Given the description of an element on the screen output the (x, y) to click on. 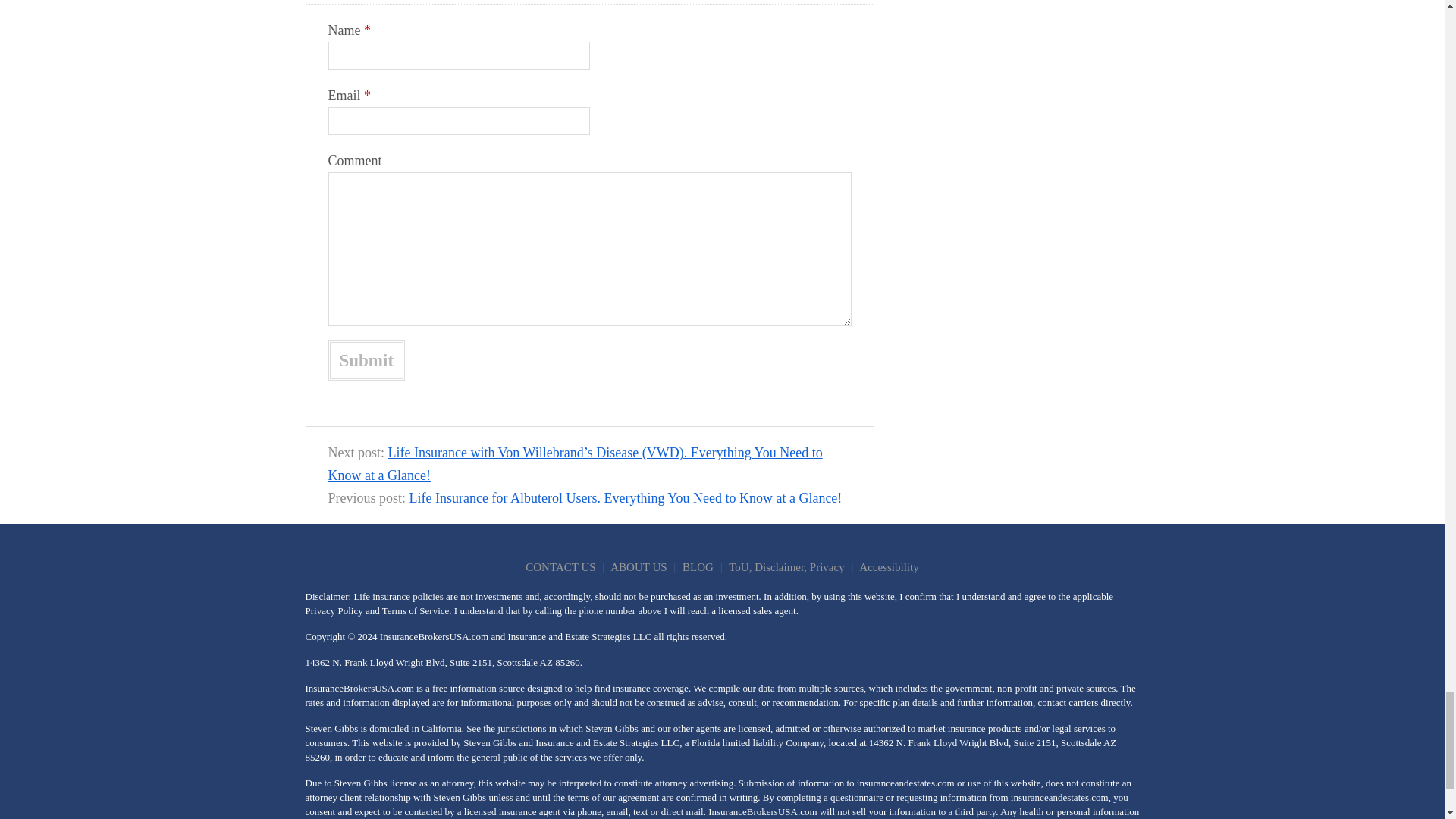
Submit (365, 360)
